Given the description of an element on the screen output the (x, y) to click on. 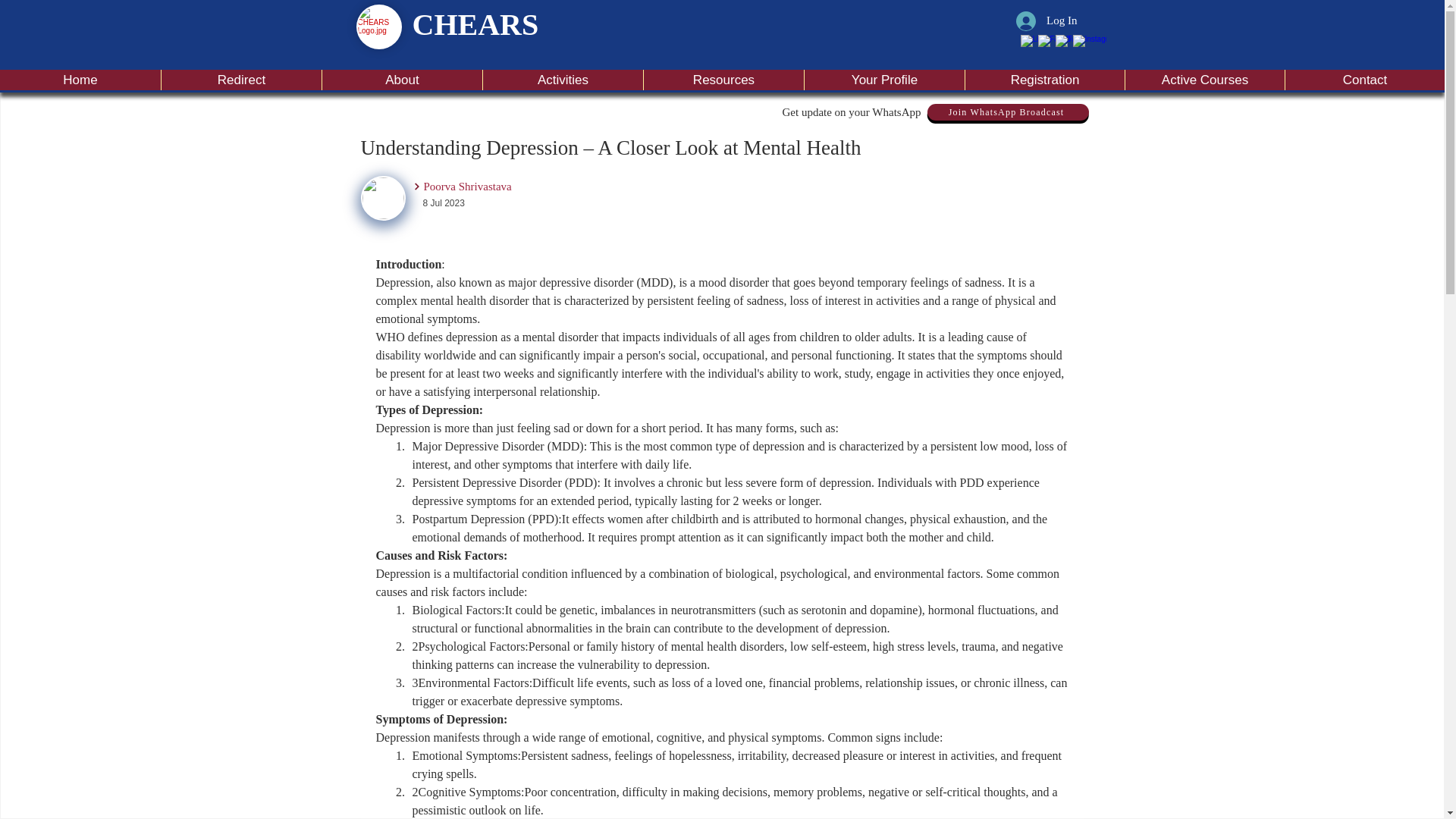
Registration (1043, 79)
Poorva Shrivastava (517, 186)
About (401, 79)
Active Courses (1204, 79)
Resources (723, 79)
Join WhatsApp Broadcast (1006, 112)
Poorva Shrivastava.jpeg (383, 198)
Home (80, 79)
Your Profile (883, 79)
Log In (1046, 20)
Activities (562, 79)
Redirect (240, 79)
